Given the description of an element on the screen output the (x, y) to click on. 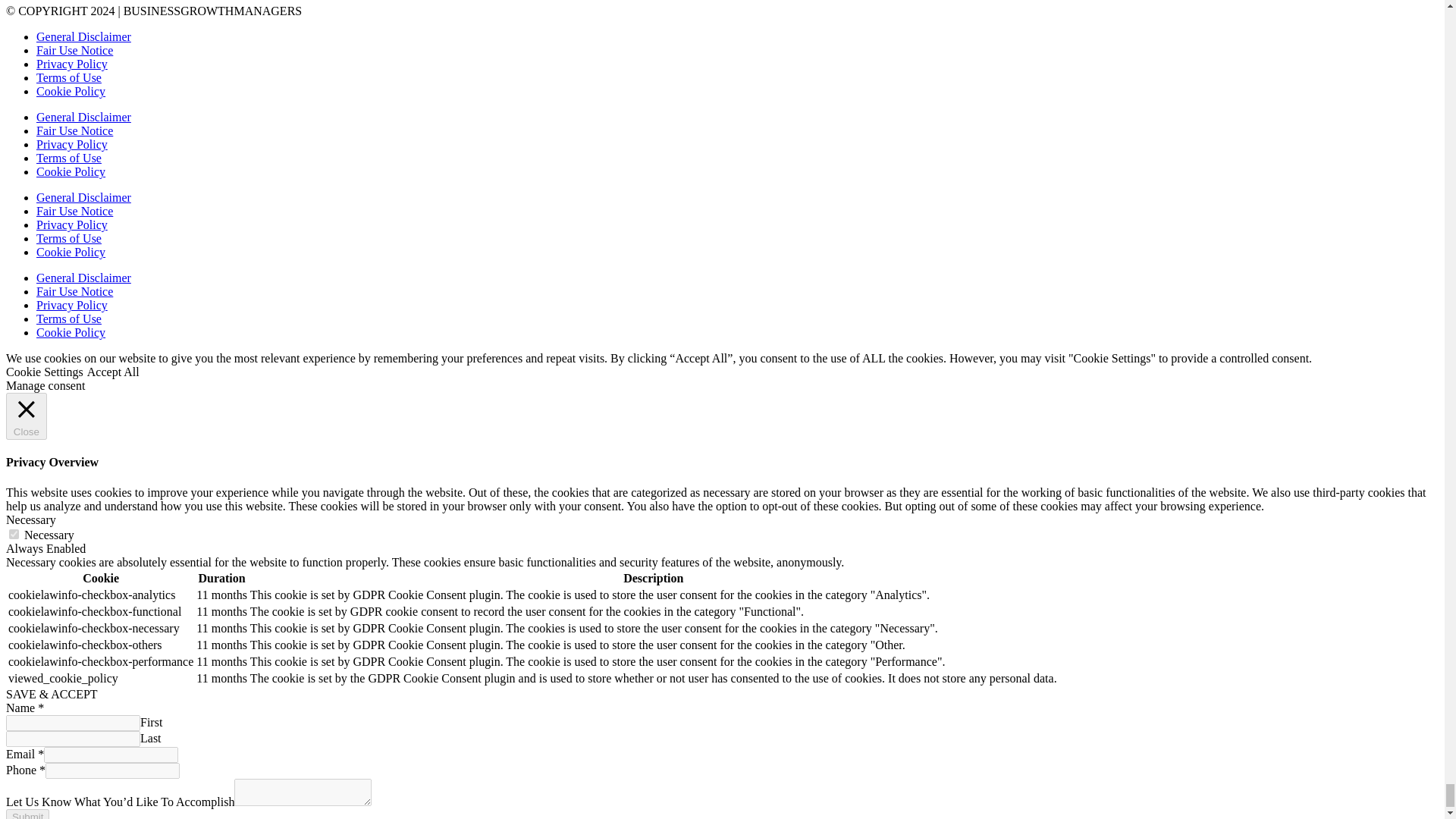
on (13, 533)
